Given the description of an element on the screen output the (x, y) to click on. 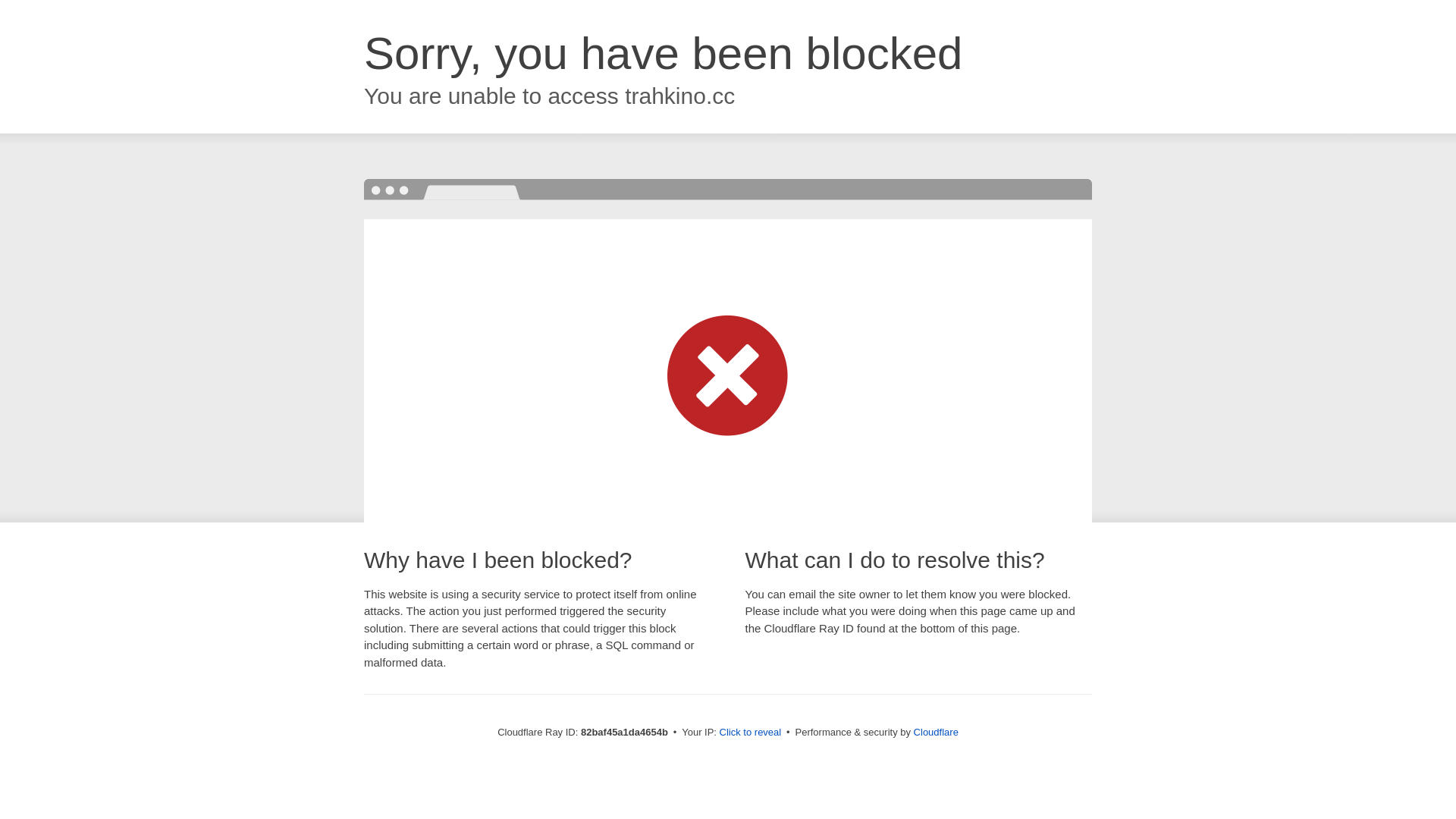
Cloudflare Element type: text (935, 731)
Click to reveal Element type: text (750, 732)
